Given the description of an element on the screen output the (x, y) to click on. 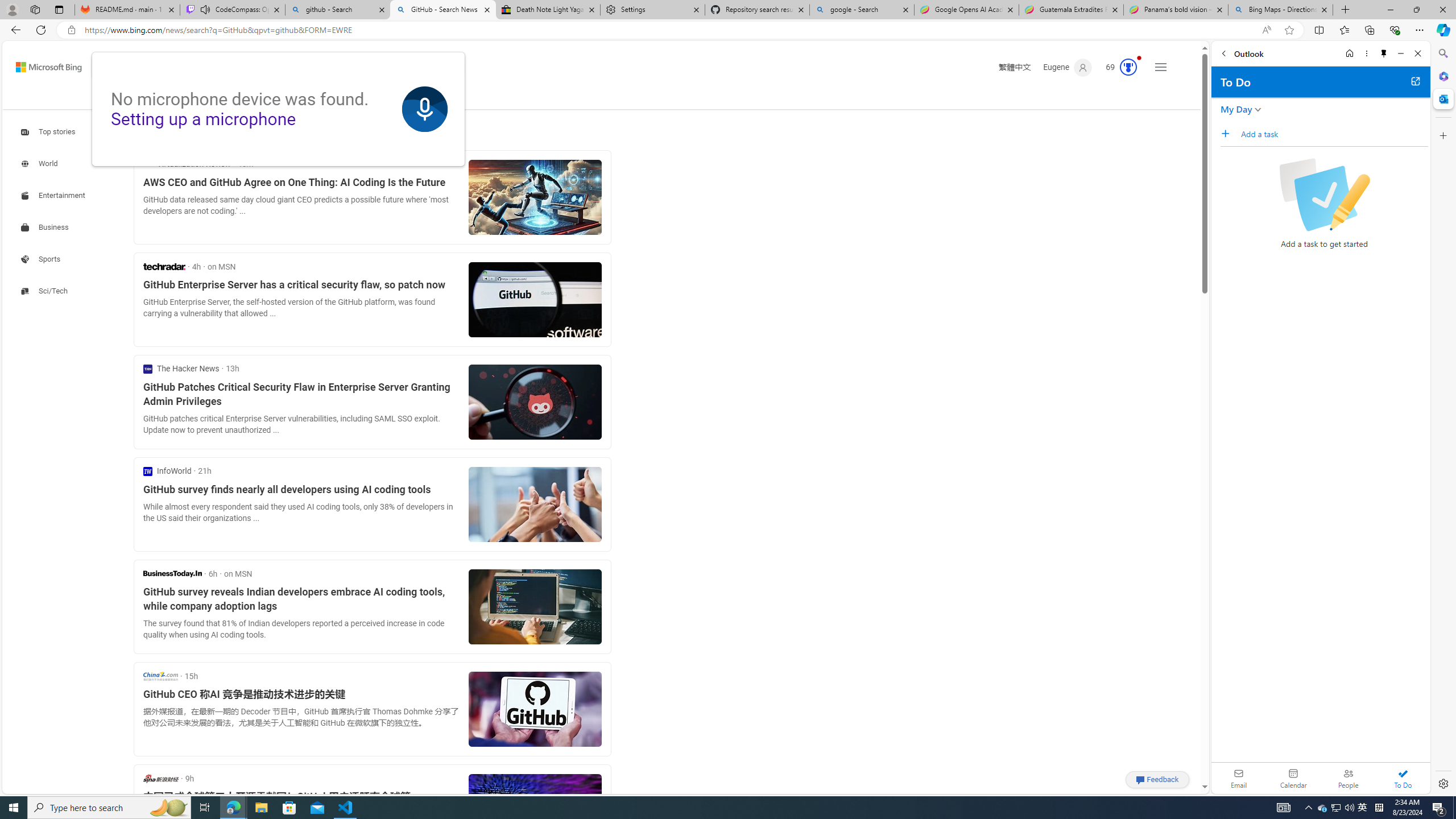
Calendar. Date today is 22 (1293, 777)
Animation (1139, 57)
